Given the description of an element on the screen output the (x, y) to click on. 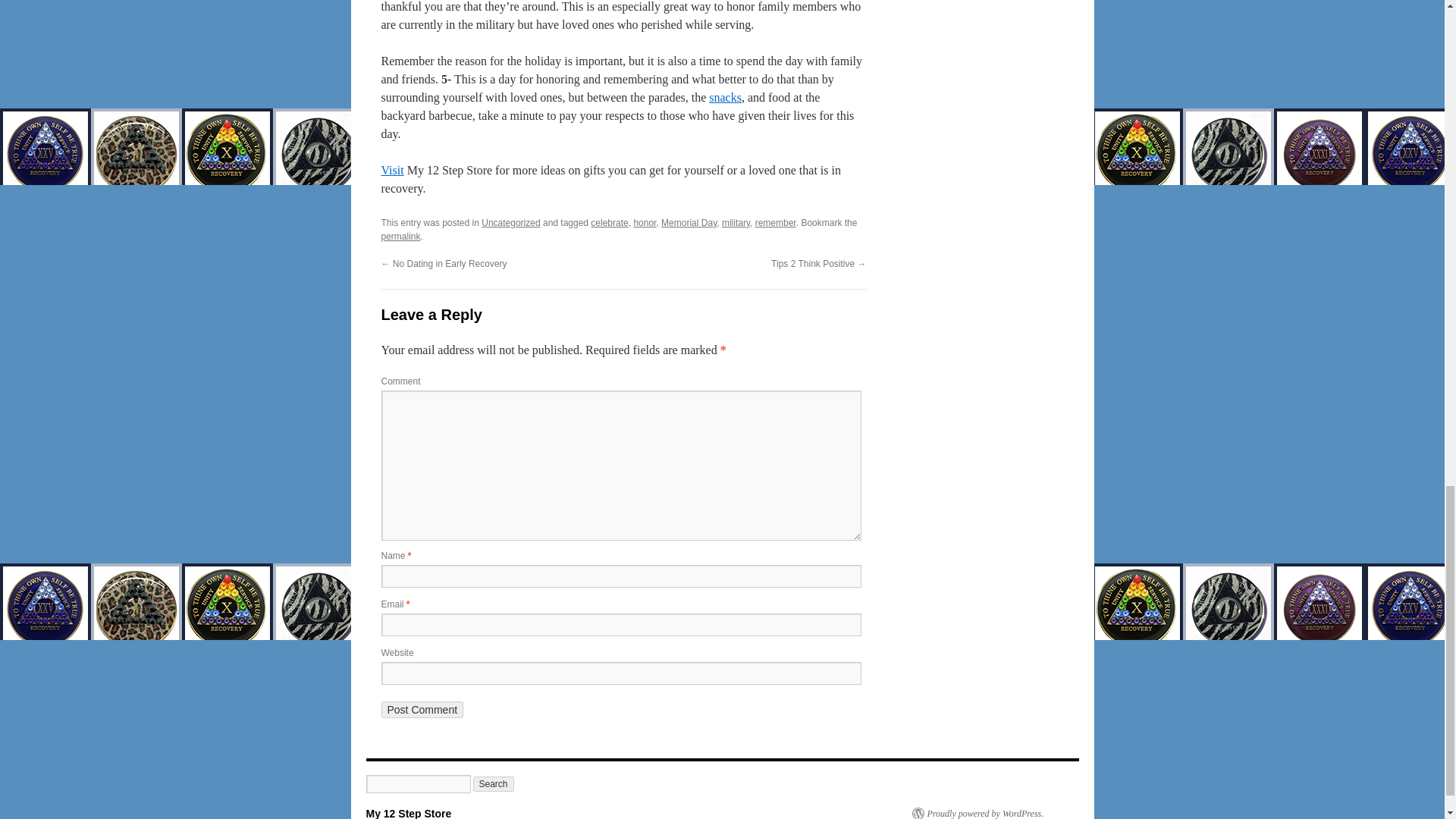
celebrate (609, 222)
Post Comment (421, 709)
Permalink to 5 Ways to Honor Memorial Day (400, 235)
permalink (400, 235)
military (735, 222)
Visit (391, 169)
honor (644, 222)
Search (493, 783)
Post Comment (421, 709)
Uncategorized (510, 222)
snacks (725, 97)
remember (775, 222)
Search (493, 783)
Memorial Day (688, 222)
